Given the description of an element on the screen output the (x, y) to click on. 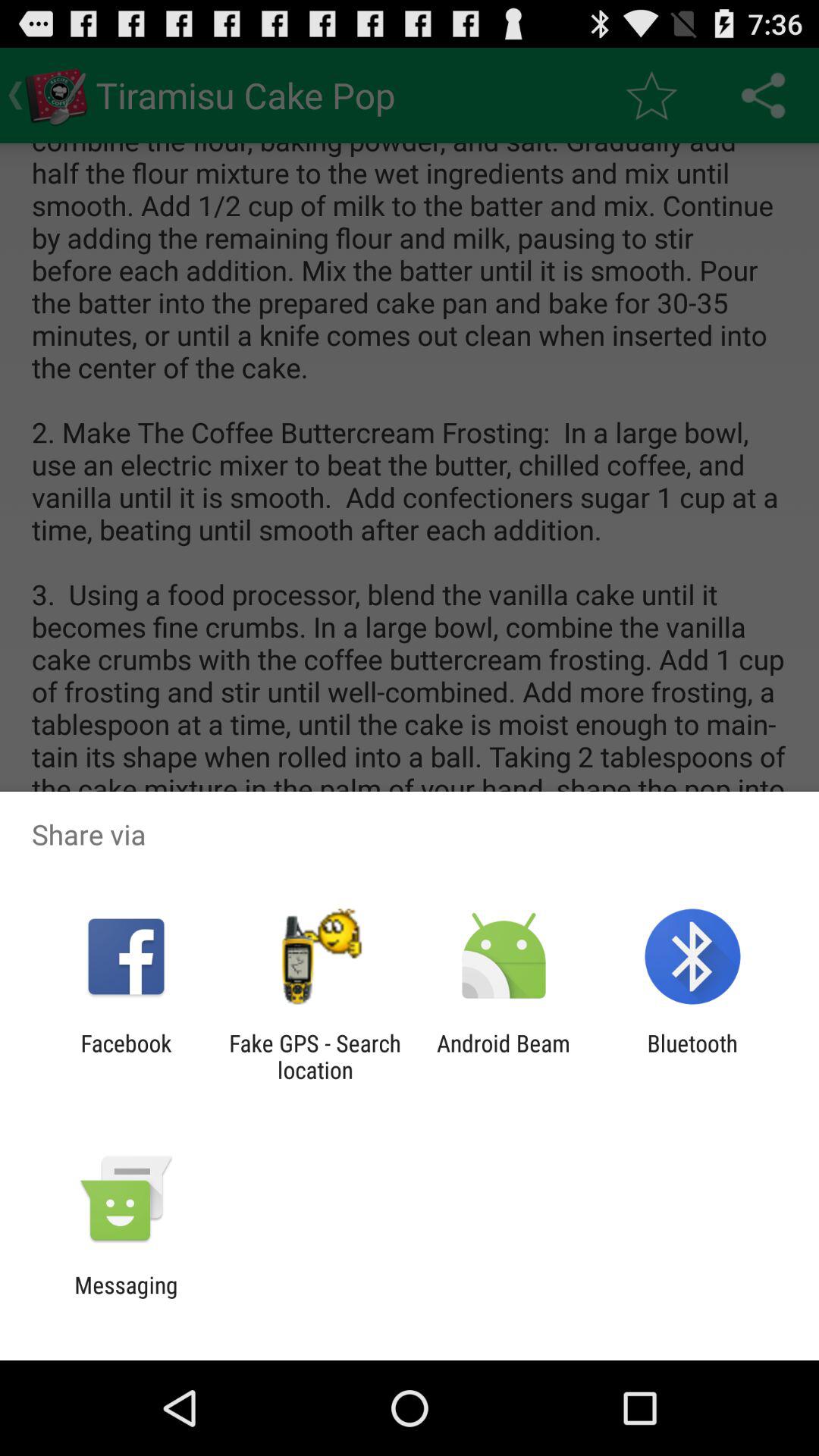
turn on item next to android beam icon (314, 1056)
